Given the description of an element on the screen output the (x, y) to click on. 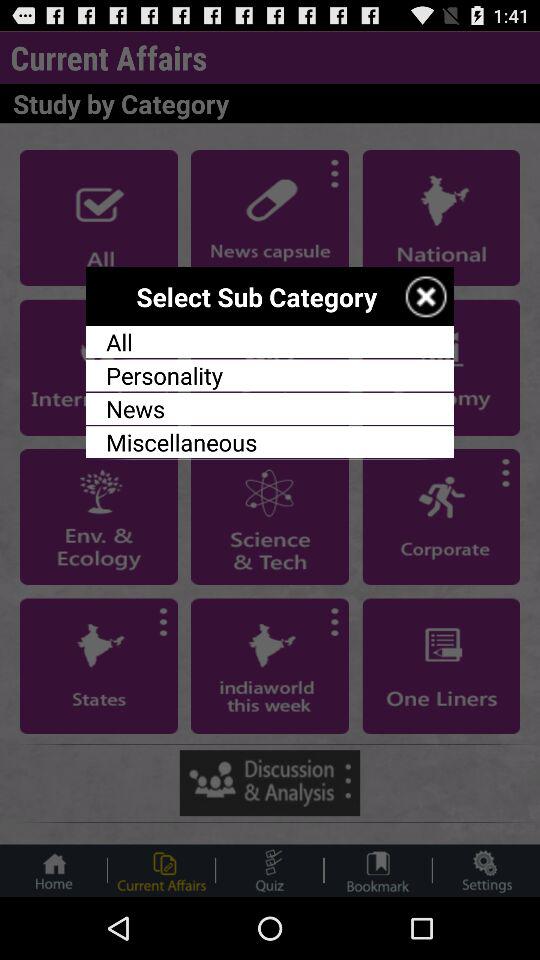
scroll until the personality item (269, 375)
